Given the description of an element on the screen output the (x, y) to click on. 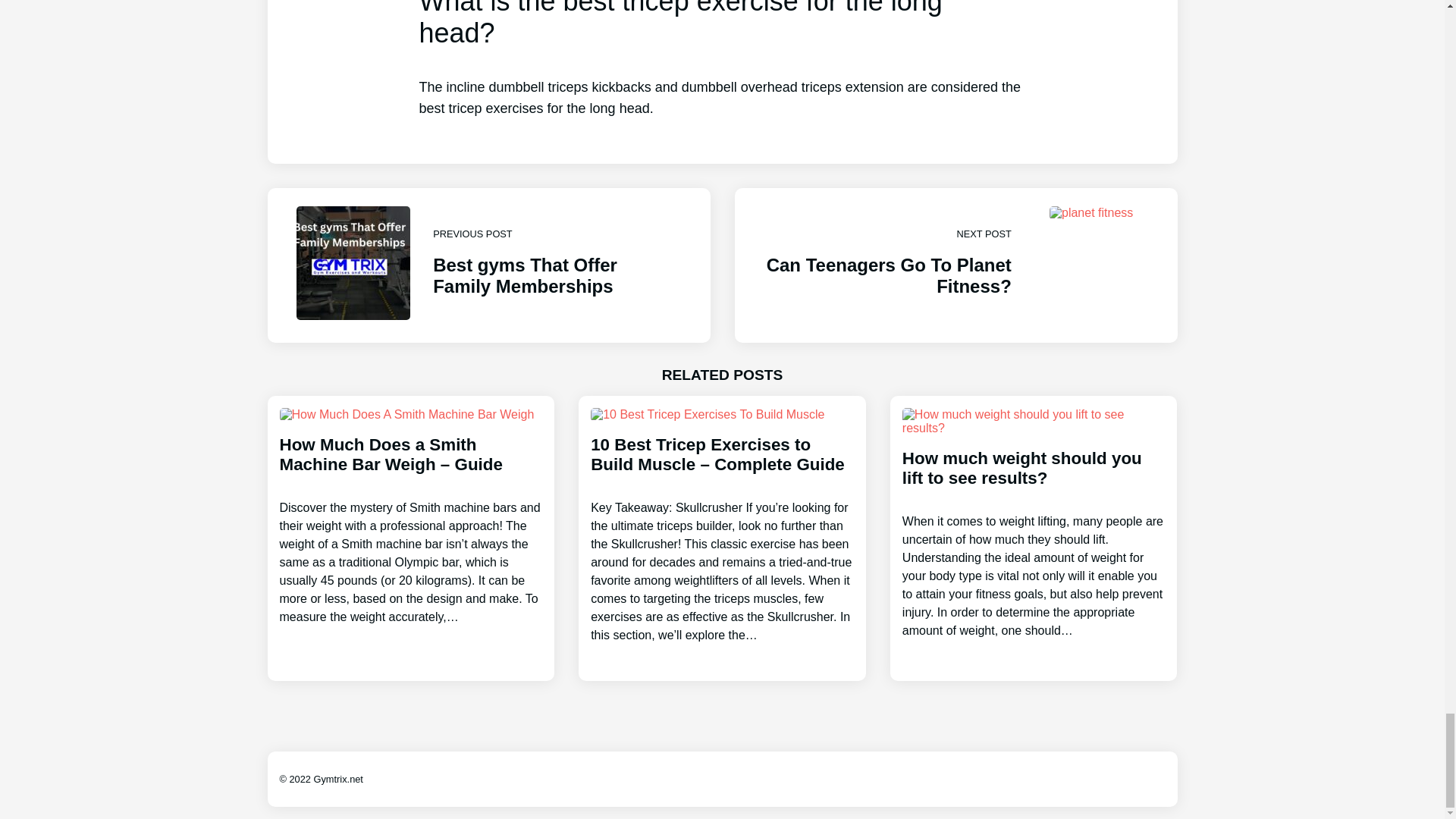
How much weight should you lift to see results? (488, 265)
